Given the description of an element on the screen output the (x, y) to click on. 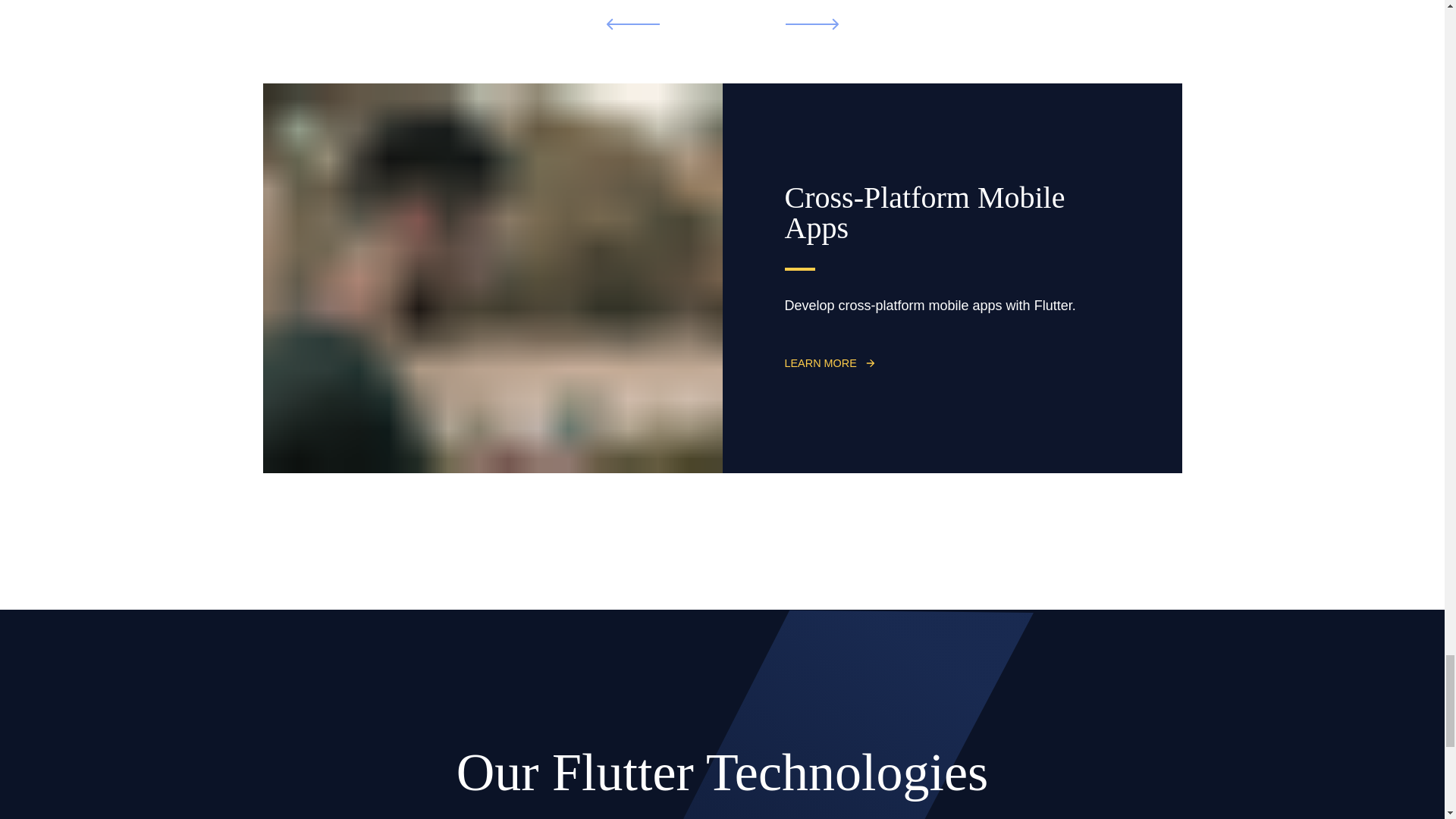
LEARN MORE (830, 362)
